Given the description of an element on the screen output the (x, y) to click on. 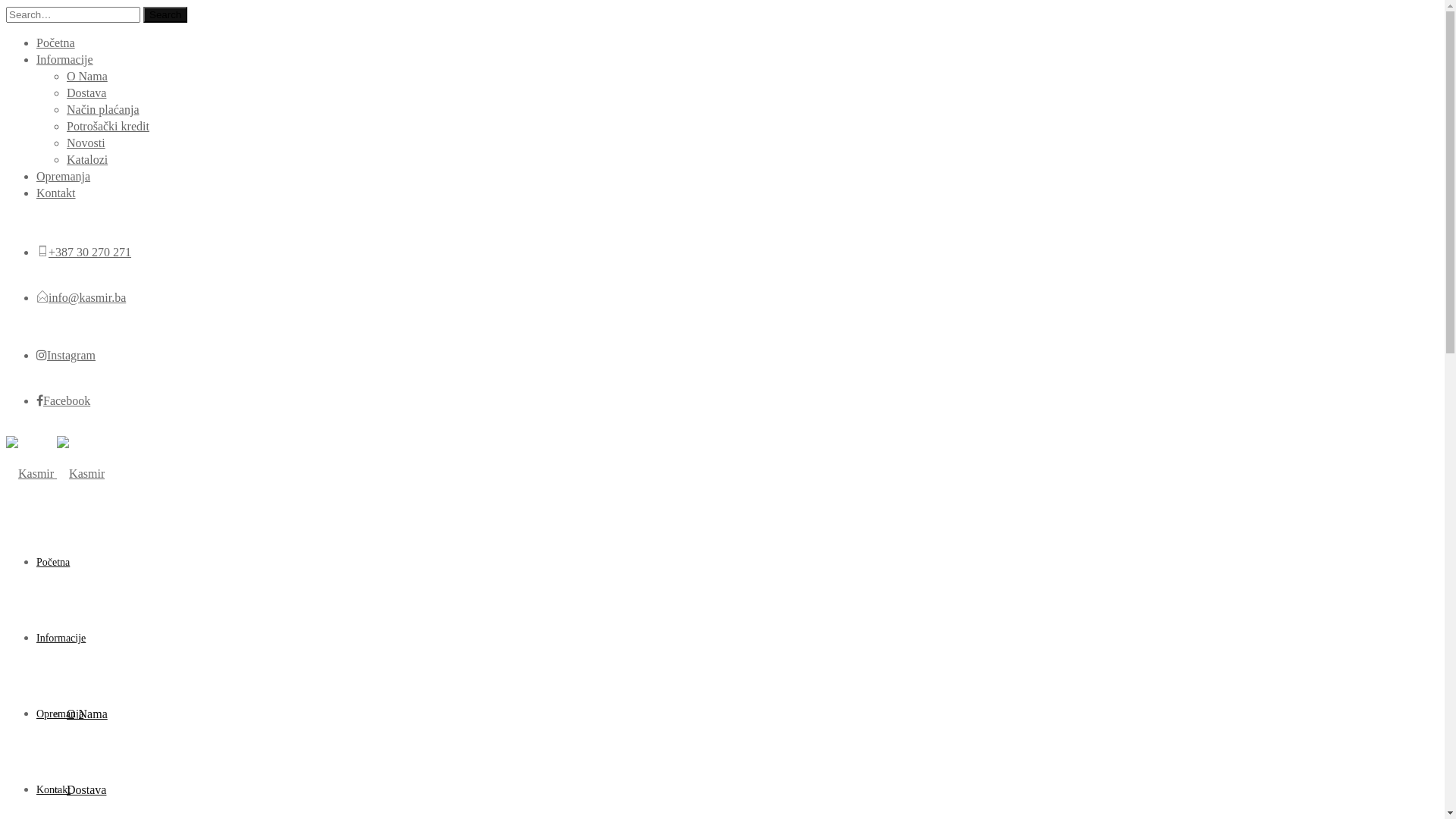
Informacije Element type: text (64, 59)
Search Element type: text (165, 14)
Opremanja Element type: text (59, 713)
Instagram Element type: text (65, 354)
Novosti Element type: text (85, 142)
O Nama Element type: text (86, 713)
Katalozi Element type: text (86, 159)
Kontakt Element type: text (55, 192)
O Nama Element type: text (86, 75)
+387 30 270 271 Element type: text (89, 251)
Kontakt Element type: text (53, 789)
Dostava Element type: text (86, 789)
Dostava Element type: text (86, 92)
Facebook Element type: text (63, 400)
Informacije Element type: text (60, 637)
info@kasmir.ba Element type: text (86, 297)
Opremanja Element type: text (63, 175)
